Given the description of an element on the screen output the (x, y) to click on. 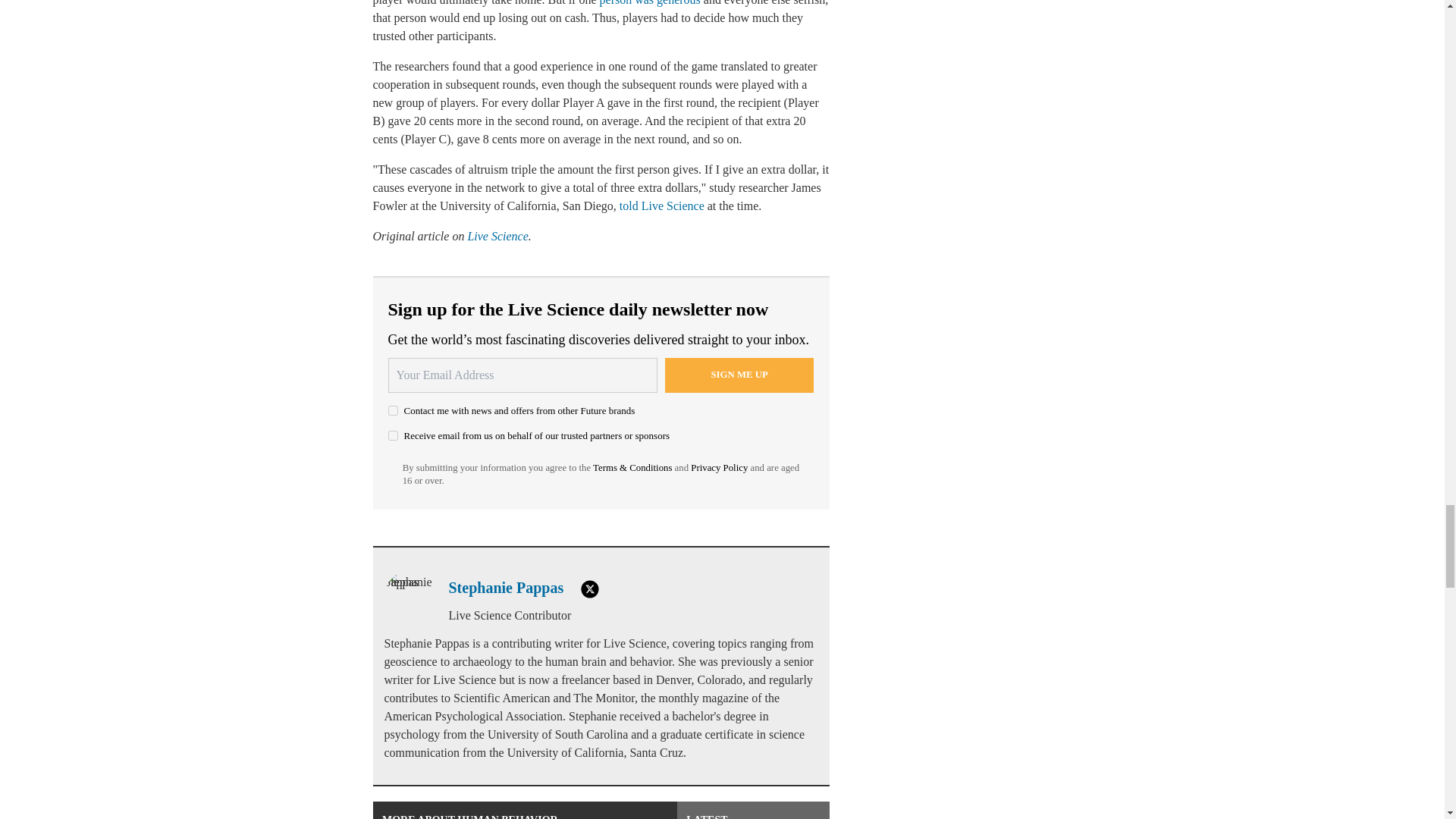
on (392, 410)
on (392, 435)
Sign me up (739, 375)
